Given the description of an element on the screen output the (x, y) to click on. 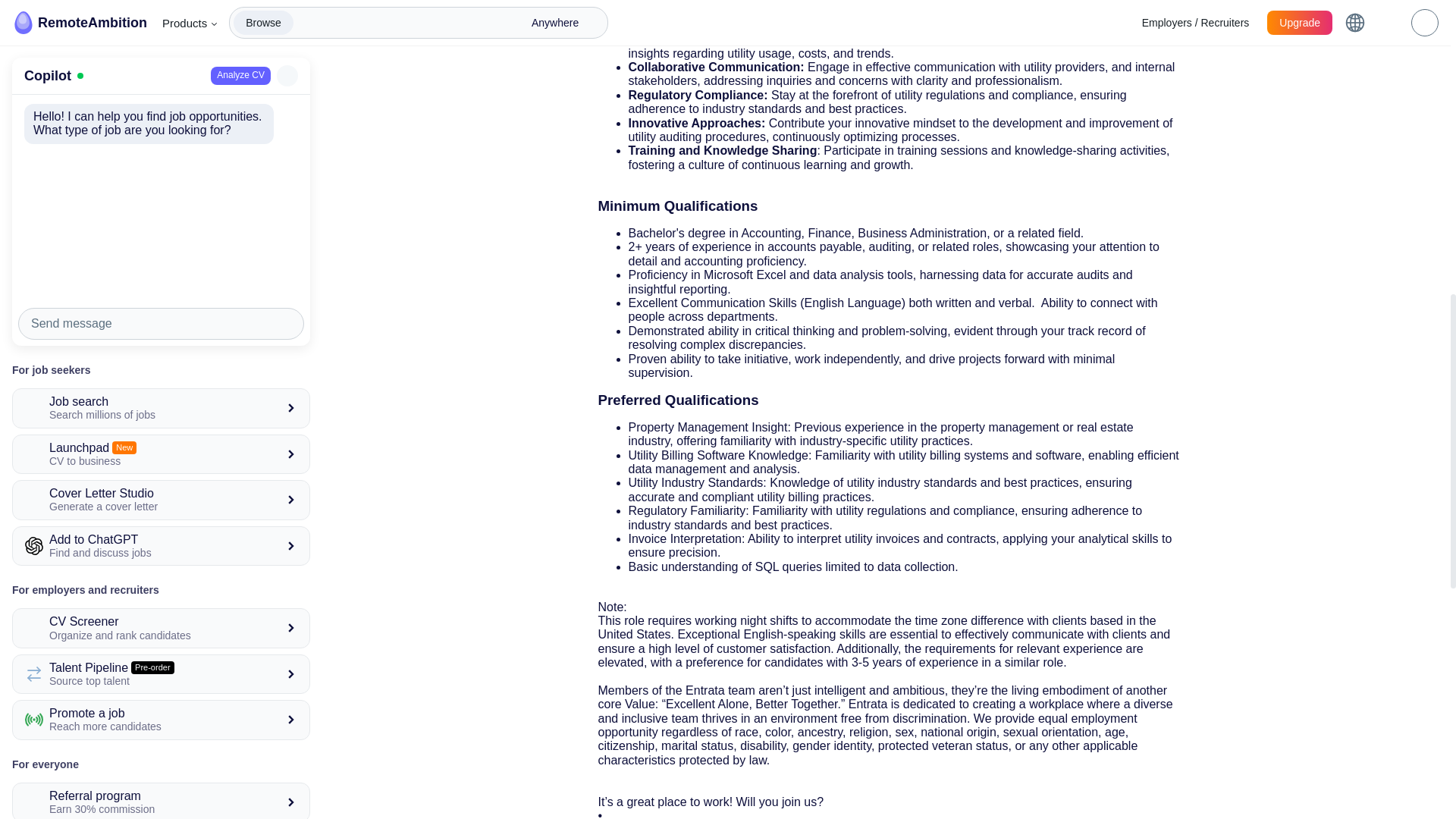
GitHub (202, 802)
Affiliate (47, 767)
Sitemap (219, 767)
Discord (161, 802)
Jobs API (160, 70)
Privacy (106, 767)
Live chat (45, 204)
Status (276, 767)
Terms (161, 767)
join our Discord (197, 204)
